Given the description of an element on the screen output the (x, y) to click on. 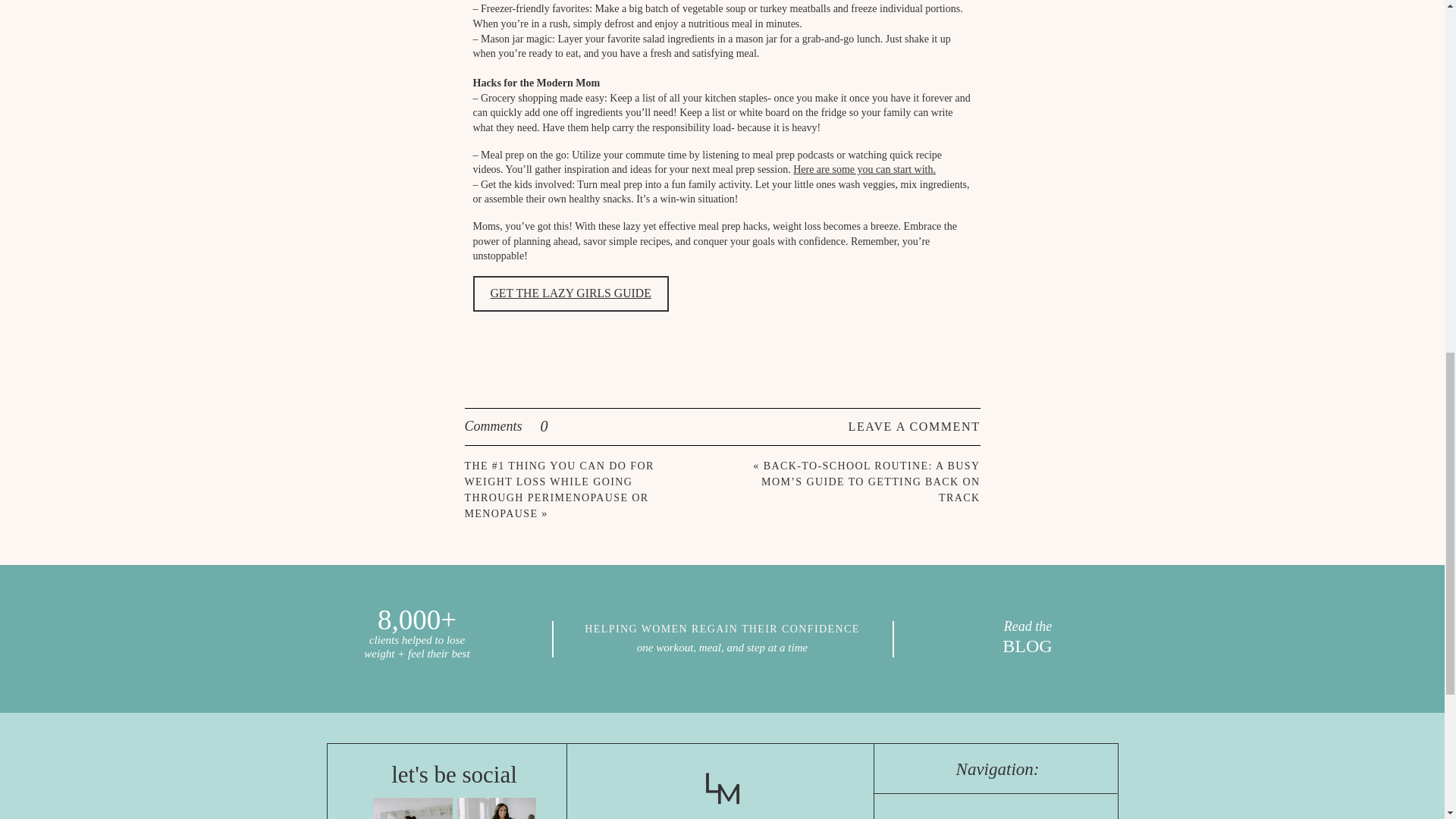
GET THE LAZY GIRLS GUIDE (570, 294)
BLOG (1026, 647)
Read the (1027, 626)
LEAVE A COMMENT (894, 425)
loren2 (496, 808)
Here are some you can start with. (864, 169)
Home (997, 816)
Comments (545, 426)
